Given the description of an element on the screen output the (x, y) to click on. 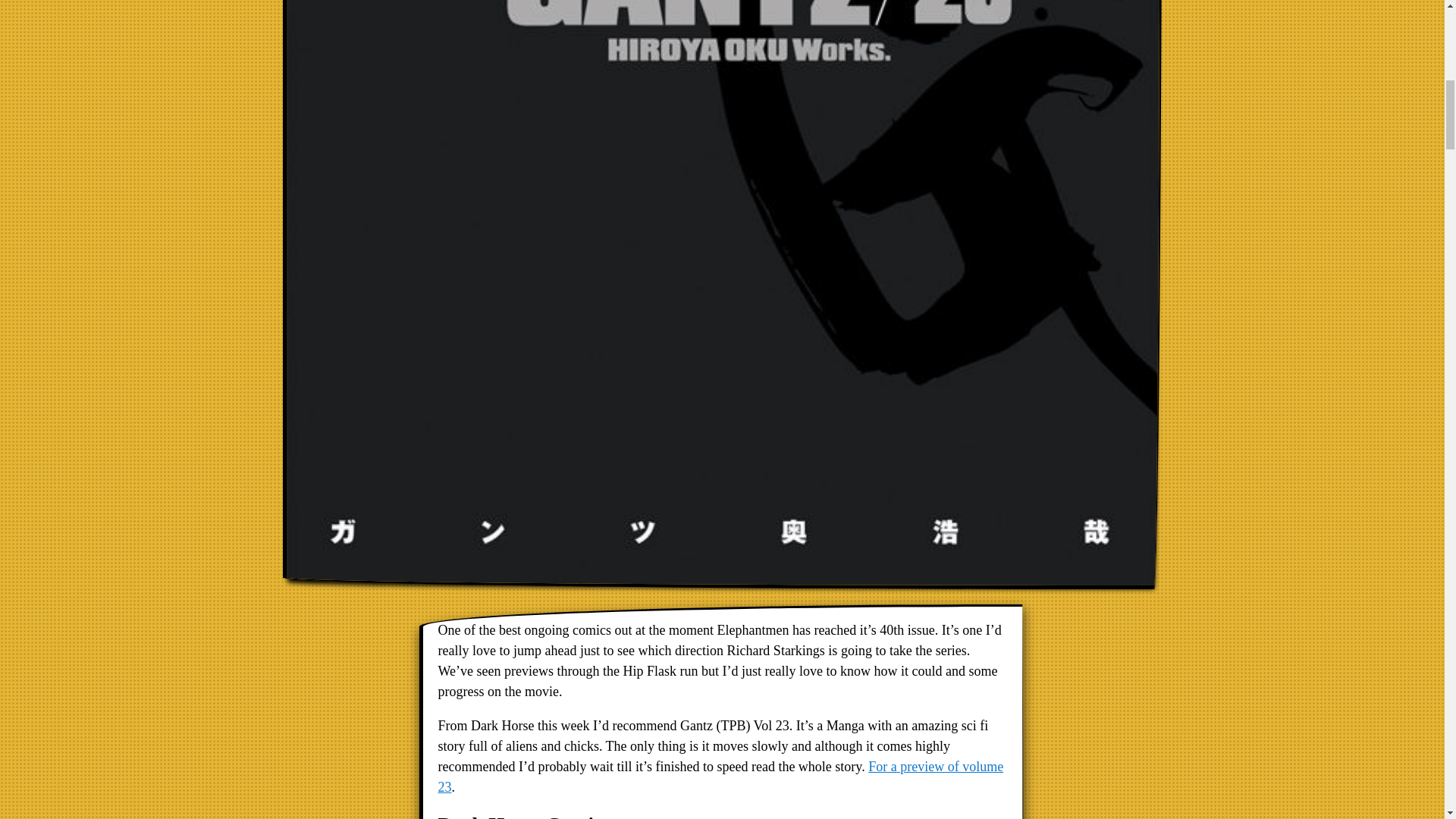
For a preview of volume 23 (721, 776)
